Given the description of an element on the screen output the (x, y) to click on. 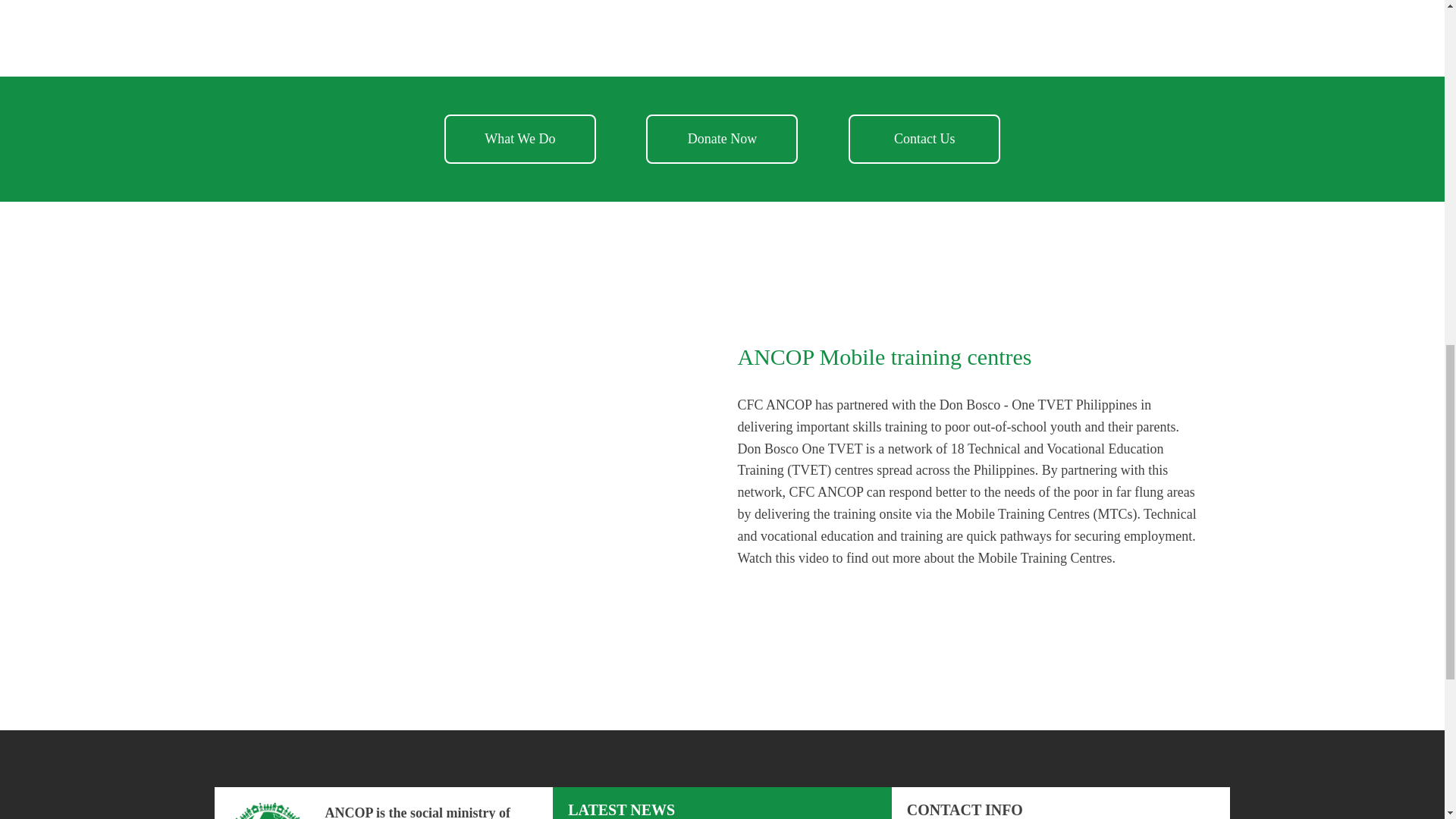
What We Do (519, 138)
Contact Us (924, 138)
Donate Now (721, 138)
